Given the description of an element on the screen output the (x, y) to click on. 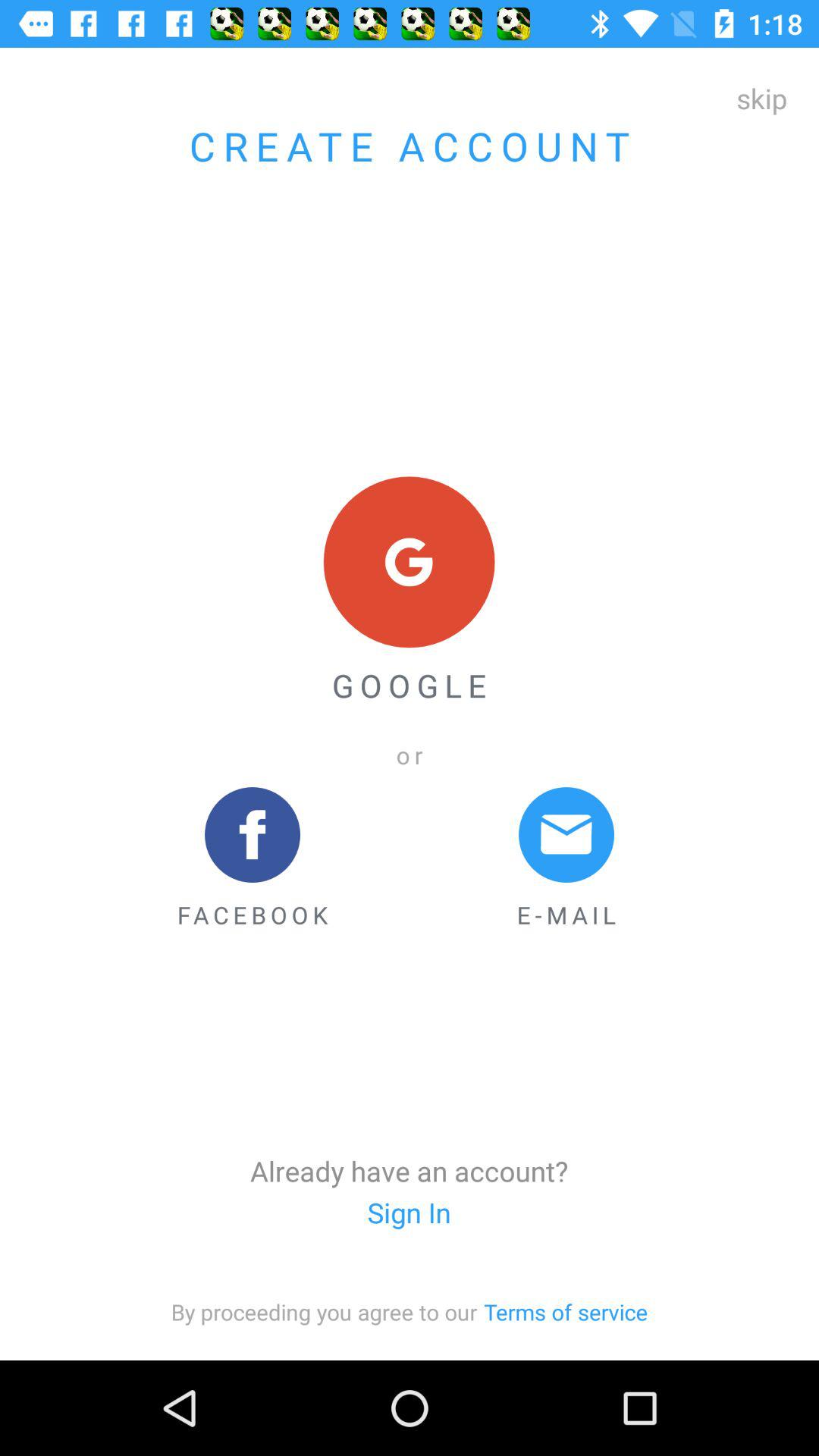
tap skip item (761, 98)
